Given the description of an element on the screen output the (x, y) to click on. 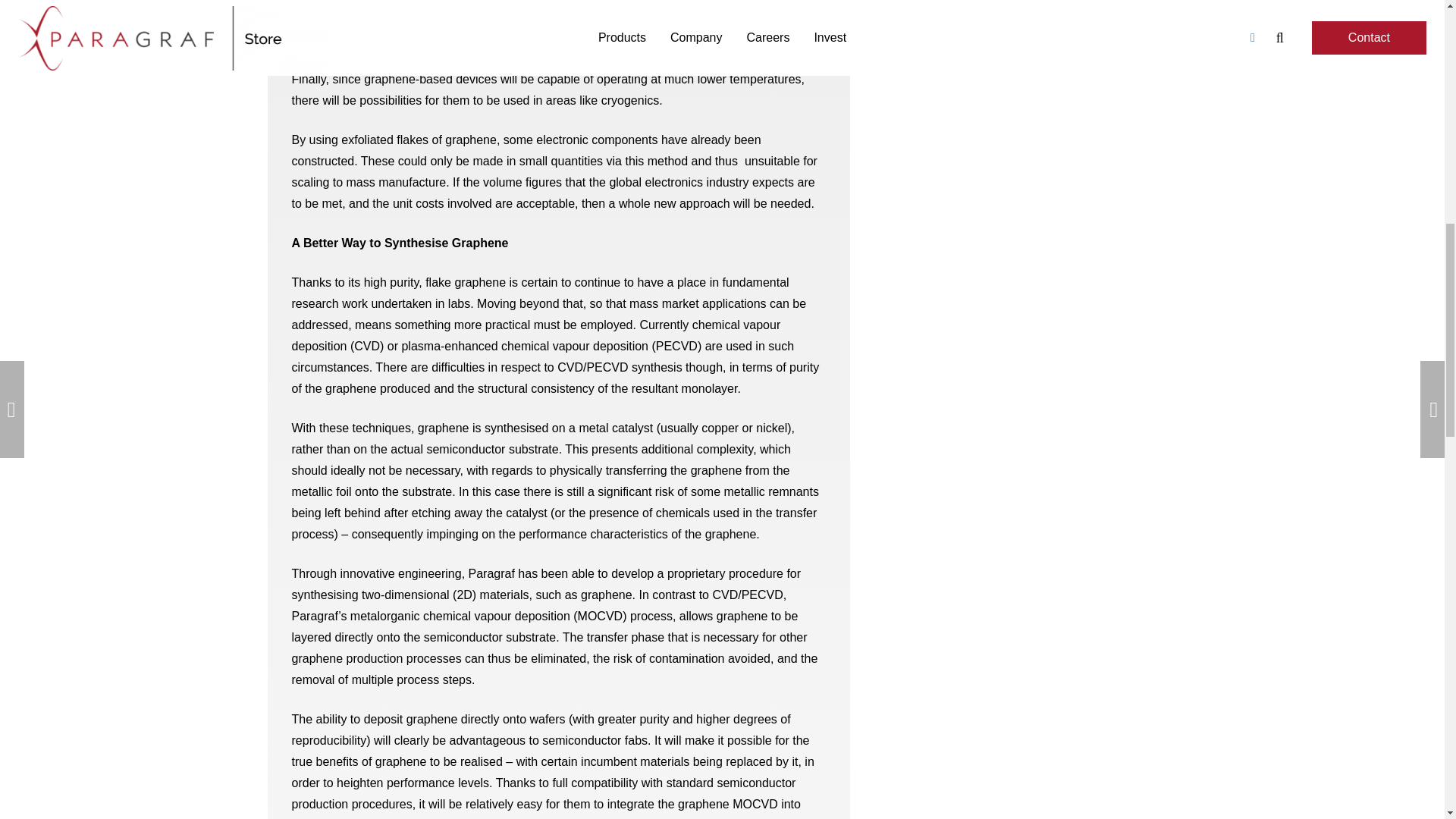
Back to top (30, 30)
